Given the description of an element on the screen output the (x, y) to click on. 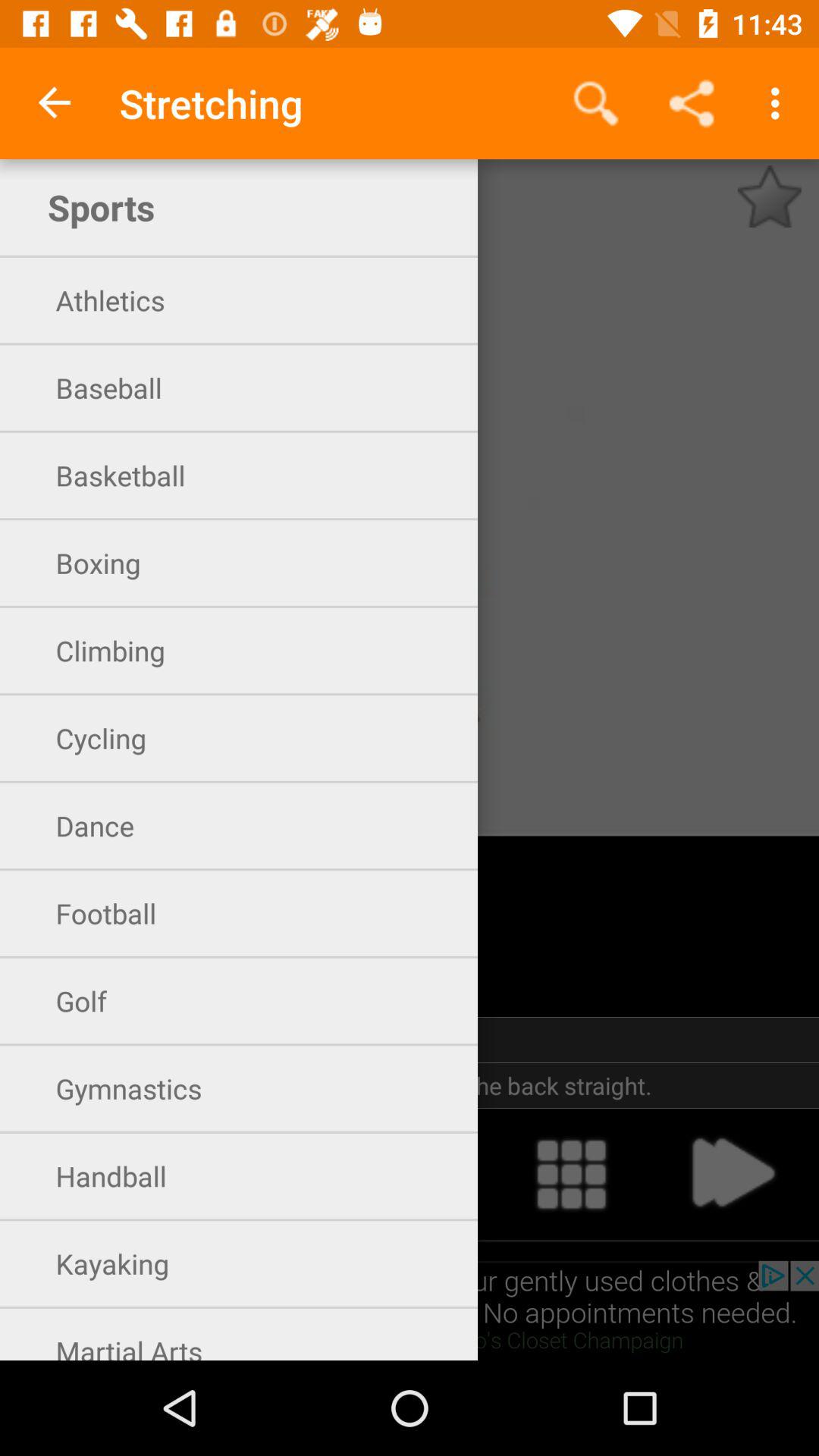
turn off item to the left of the stretching icon (55, 103)
